Given the description of an element on the screen output the (x, y) to click on. 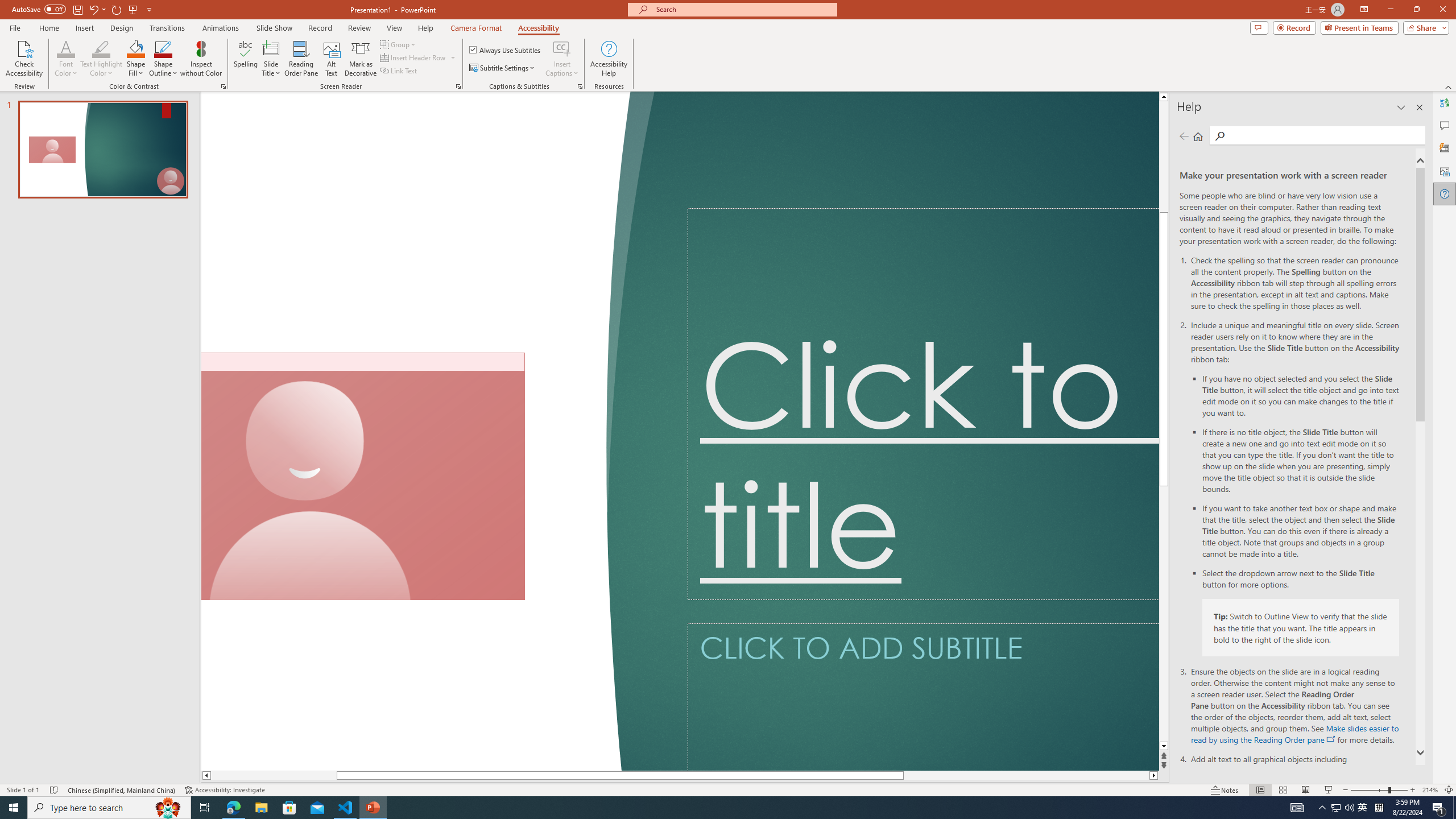
openinnewwindow (1330, 739)
Inspect without Color (201, 58)
Zoom 214% (1430, 790)
